Given the description of an element on the screen output the (x, y) to click on. 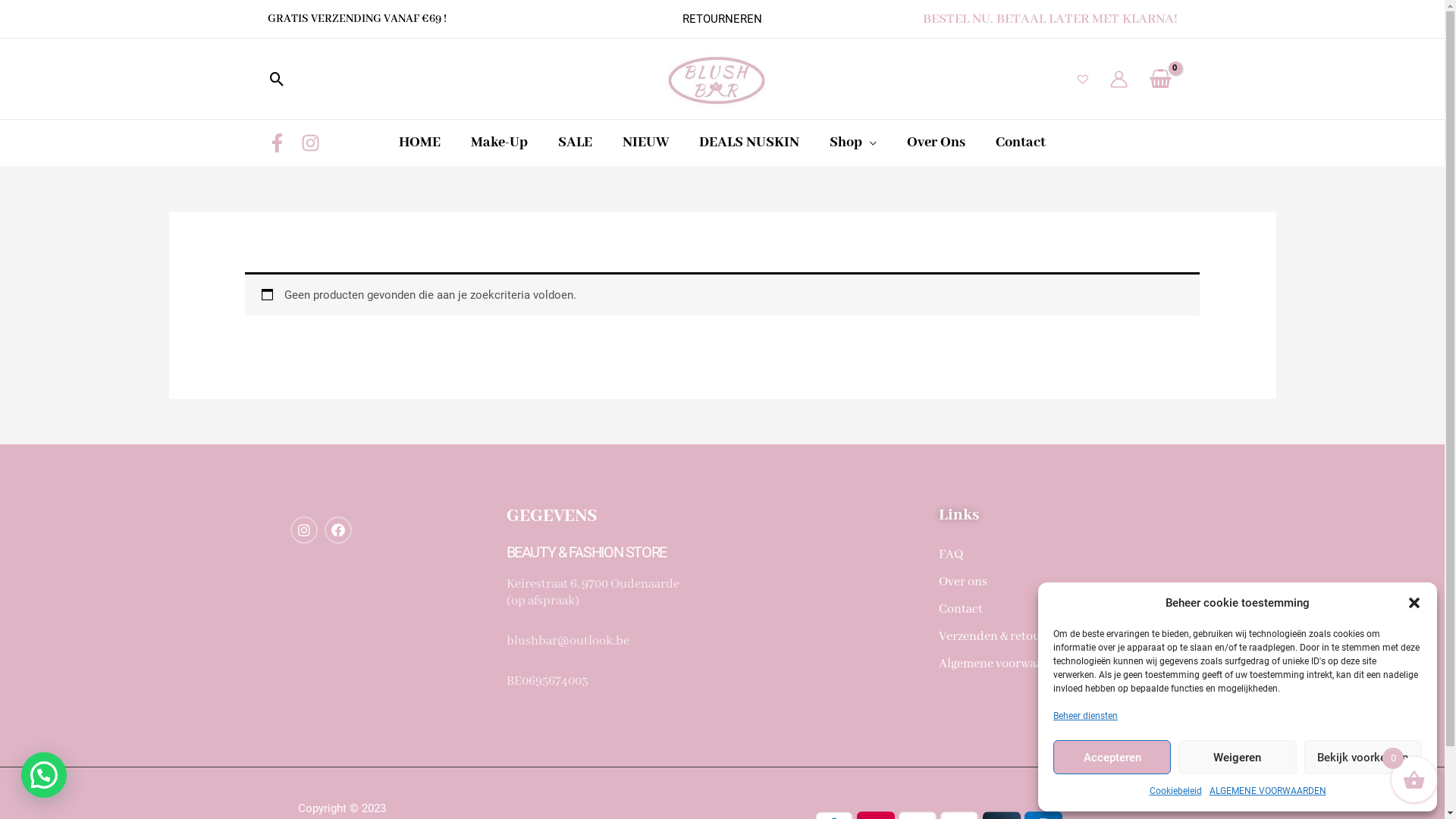
Contact Element type: text (1020, 142)
Instagram Element type: text (302, 529)
Beheer diensten Element type: text (1085, 715)
FAQ Element type: text (1046, 554)
DEALS NUSKIN Element type: text (749, 142)
Over ons Element type: text (1046, 582)
Zoeken Element type: text (275, 78)
Accepteren Element type: text (1111, 757)
Algemene voorwaarden Element type: text (1046, 663)
Contact Element type: text (1046, 609)
HOME Element type: text (419, 142)
RETOURNEREN Element type: text (722, 18)
NIEUW Element type: text (645, 142)
Facebook-f Element type: text (337, 529)
Shop Element type: text (852, 142)
ALGEMENE VOORWAARDEN Element type: text (1266, 790)
Verzenden & retourneren Element type: text (1046, 636)
Over Ons Element type: text (935, 142)
Bekijk voorkeuren Element type: text (1362, 757)
Cookiebeleid Element type: text (1175, 790)
SALE Element type: text (574, 142)
Weigeren Element type: text (1236, 757)
Inloggen Element type: text (687, 628)
Make-Up Element type: text (498, 142)
